Given the description of an element on the screen output the (x, y) to click on. 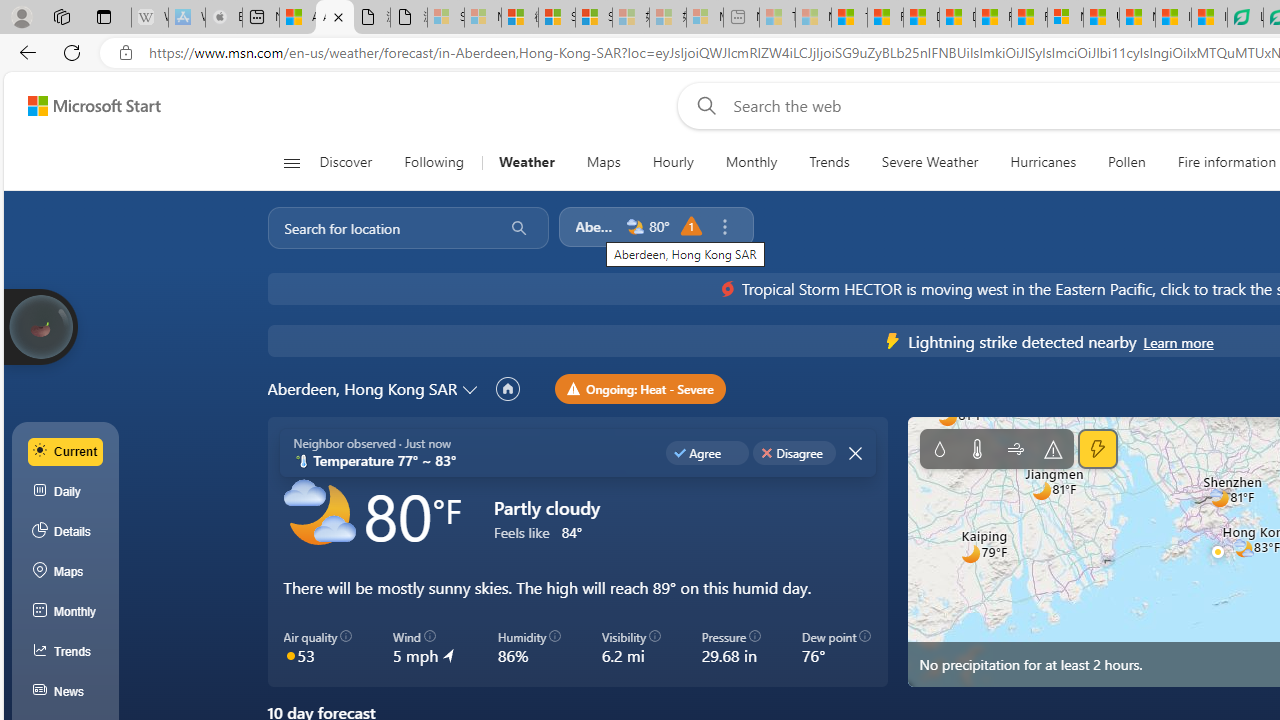
Air quality 53 (317, 647)
Class: aqiColorCycle-DS-EntryPoint1-1 (290, 654)
Visibility 6.2 mi (630, 647)
Severe Weather (929, 162)
Change location (472, 388)
Disagree (793, 452)
Ongoing: Heat - Severe (640, 388)
Wind 5 mph (424, 647)
Buy iPad - Apple - Sleeping (223, 17)
Join us in planting real trees to help our planet! (40, 325)
Aberdeen (596, 226)
